Given the description of an element on the screen output the (x, y) to click on. 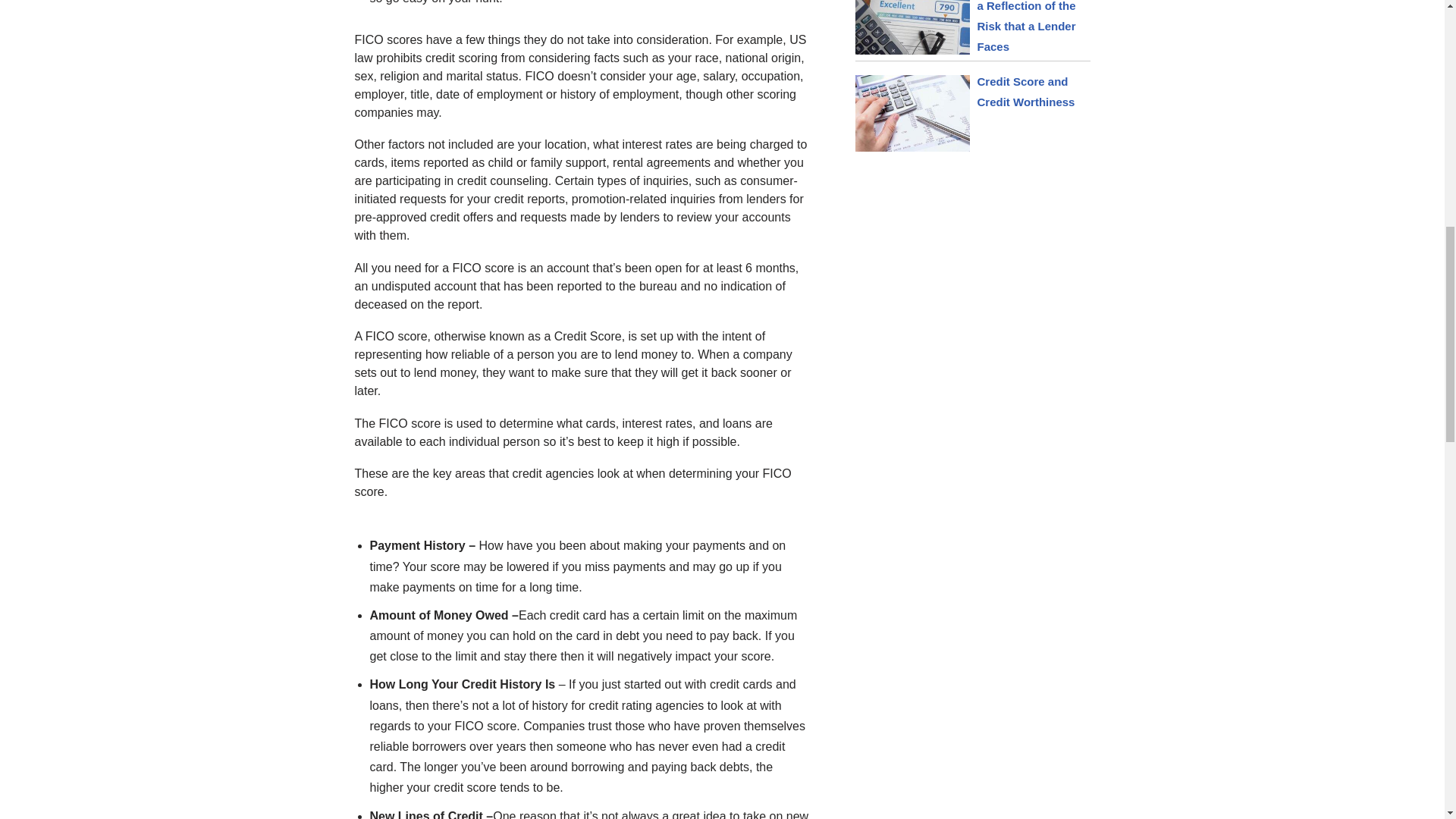
Credit Score and Credit Worthiness (1025, 91)
Credit Score and Credit Worthiness (1025, 91)
